Given the description of an element on the screen output the (x, y) to click on. 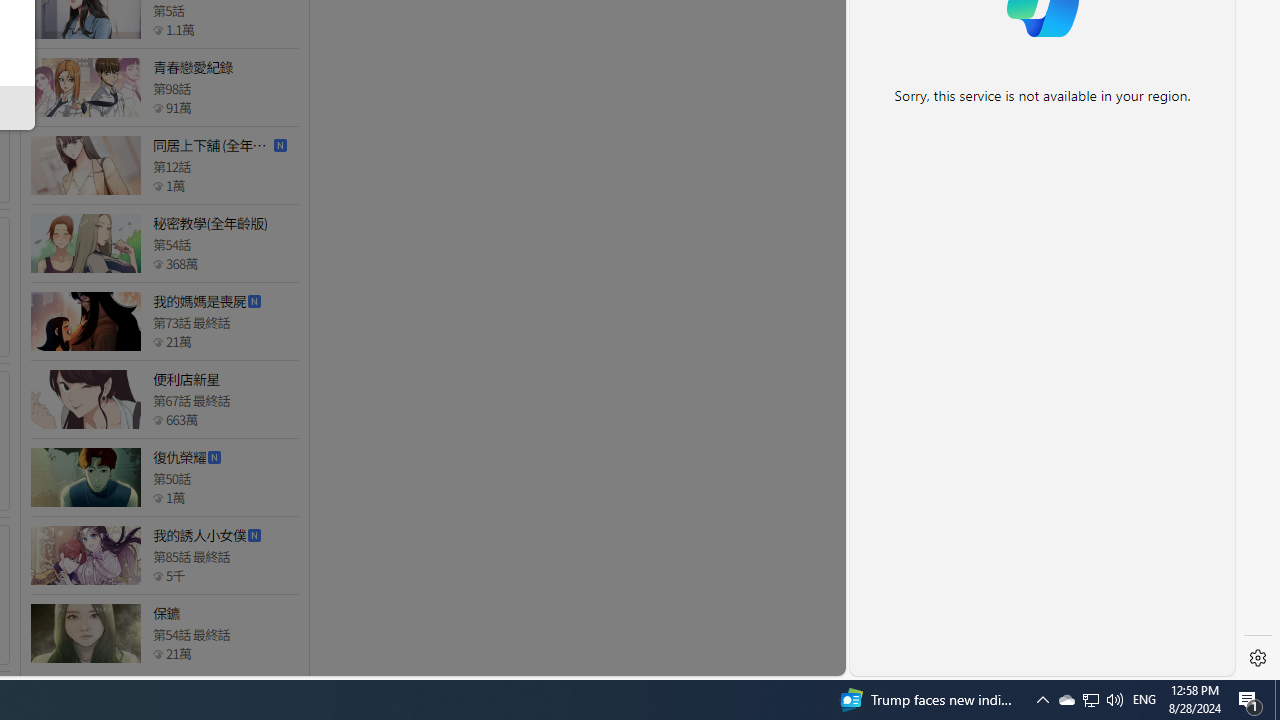
Settings (1258, 658)
Class: epicon_starpoint (158, 653)
Class: thumb_img (85, 633)
